Given the description of an element on the screen output the (x, y) to click on. 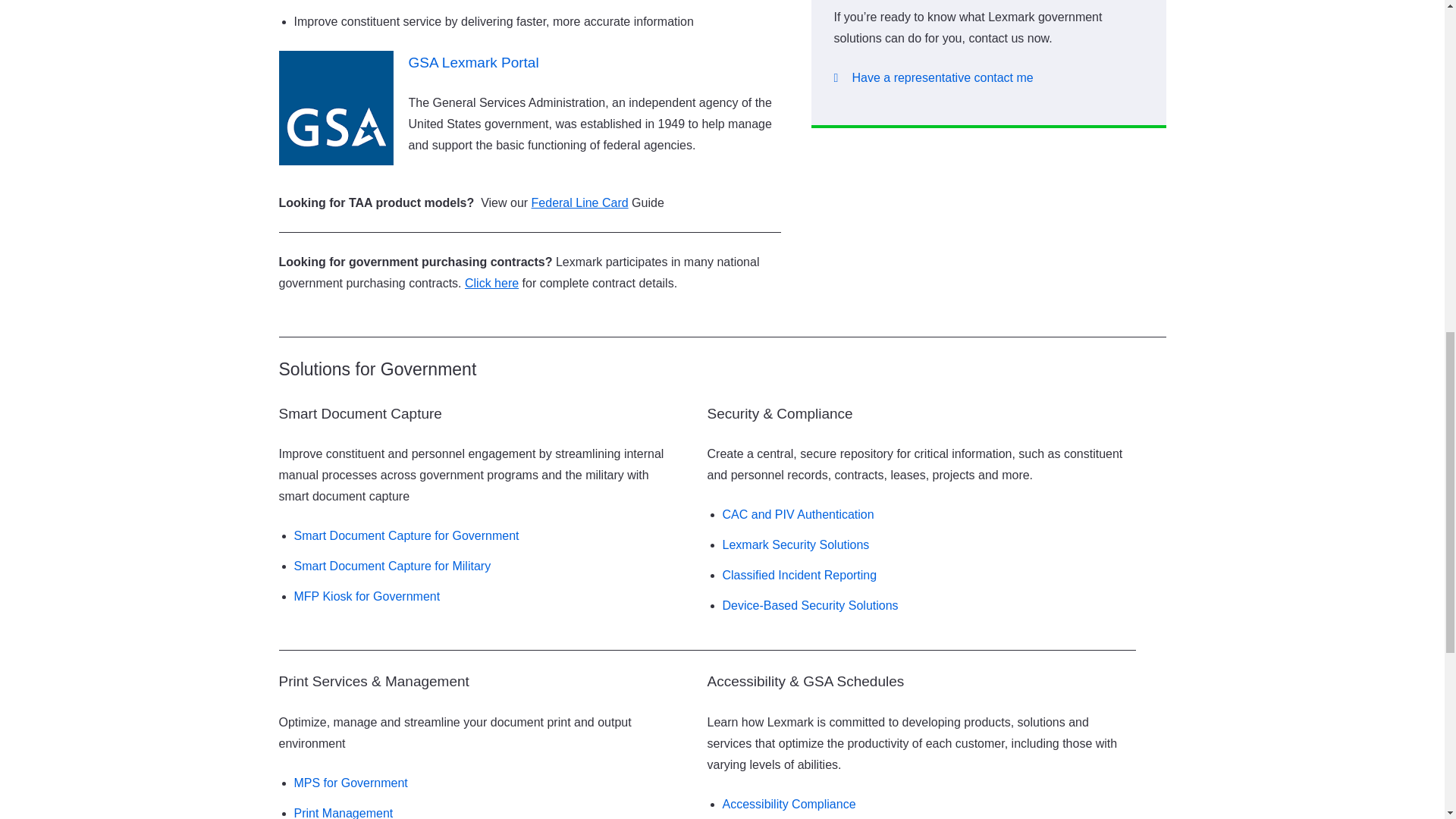
Smart Document Capture for Military (393, 565)
MFP Kiosk for Government (367, 595)
Lexmark Security Solutions (795, 544)
MPS for Government (350, 782)
Have a representative contact me (933, 77)
CAC and PIV Authentication (797, 513)
GSA Lexmark Portal (472, 62)
Smart Document Capture for Government (406, 535)
Print Management (343, 812)
Click here (491, 282)
Classified Incident Reporting (799, 574)
Device-Based Security Solutions (810, 604)
Federal Line Card (579, 202)
